Given the description of an element on the screen output the (x, y) to click on. 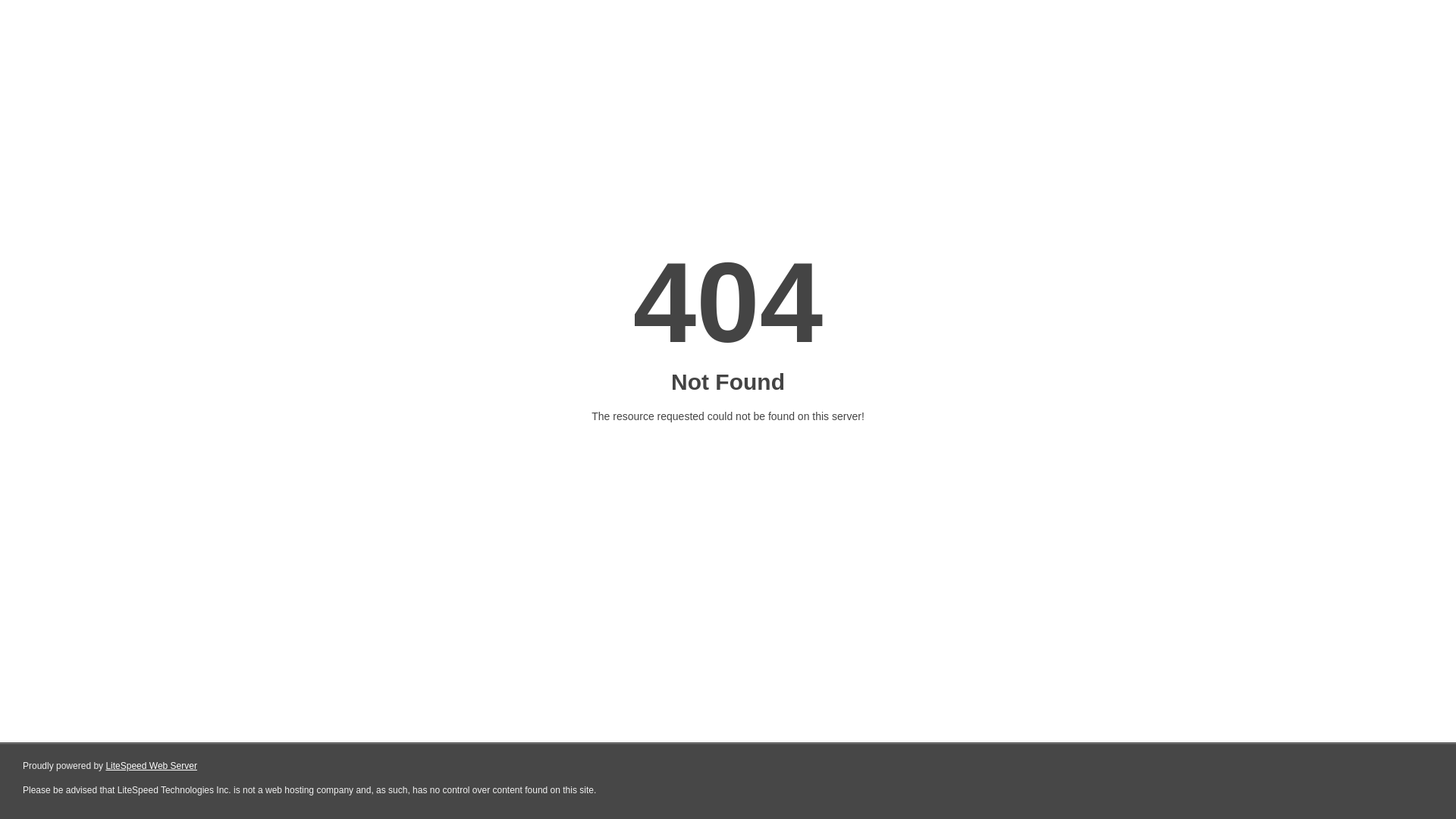
LiteSpeed Web Server Element type: text (151, 765)
